Given the description of an element on the screen output the (x, y) to click on. 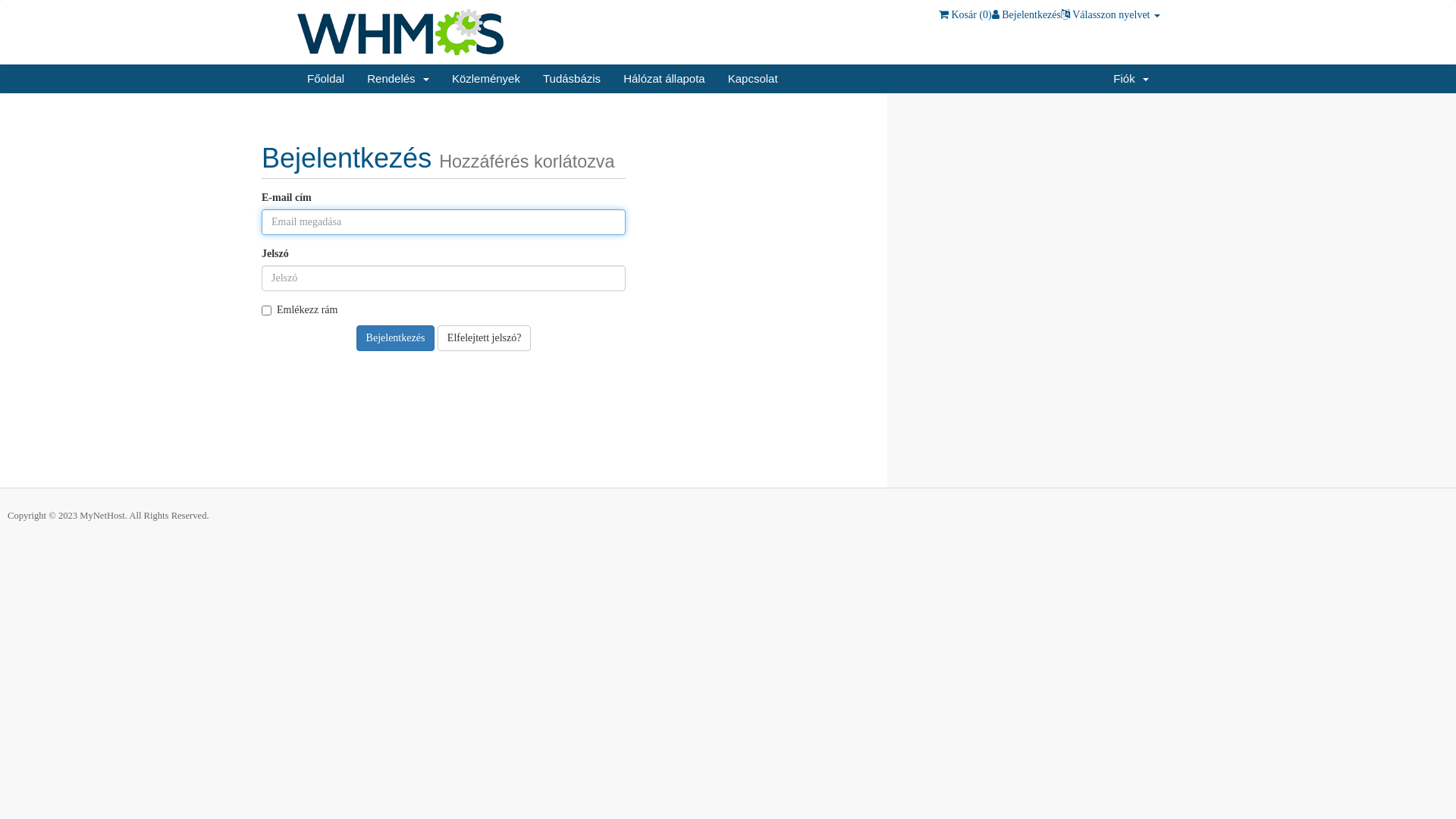
Kapcsolat Element type: text (752, 78)
